Given the description of an element on the screen output the (x, y) to click on. 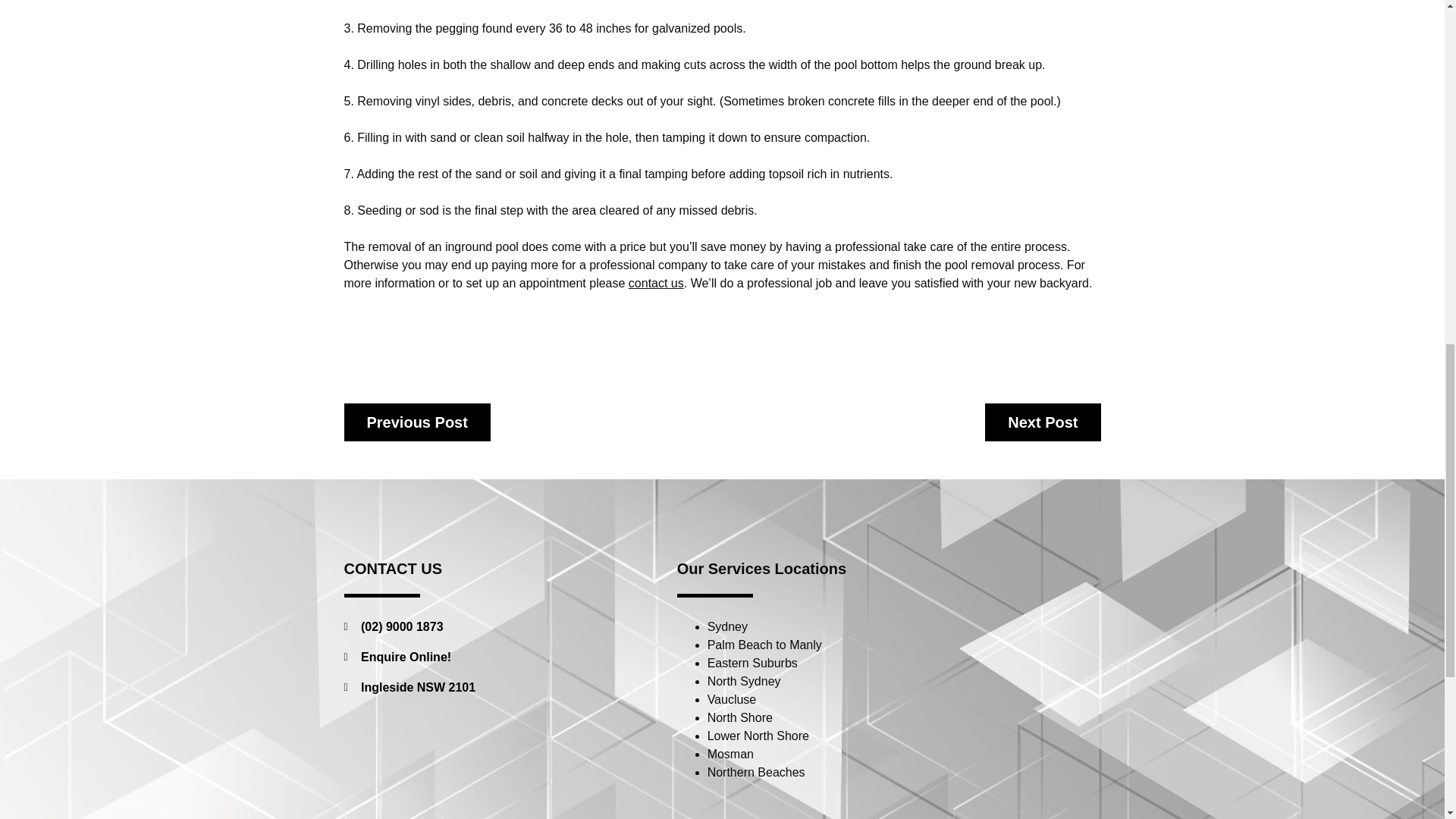
Ingleside NSW 2101 (493, 687)
Previous Post (416, 422)
Enquire Online! (493, 657)
contact us (656, 282)
Next Post (1042, 422)
